Given the description of an element on the screen output the (x, y) to click on. 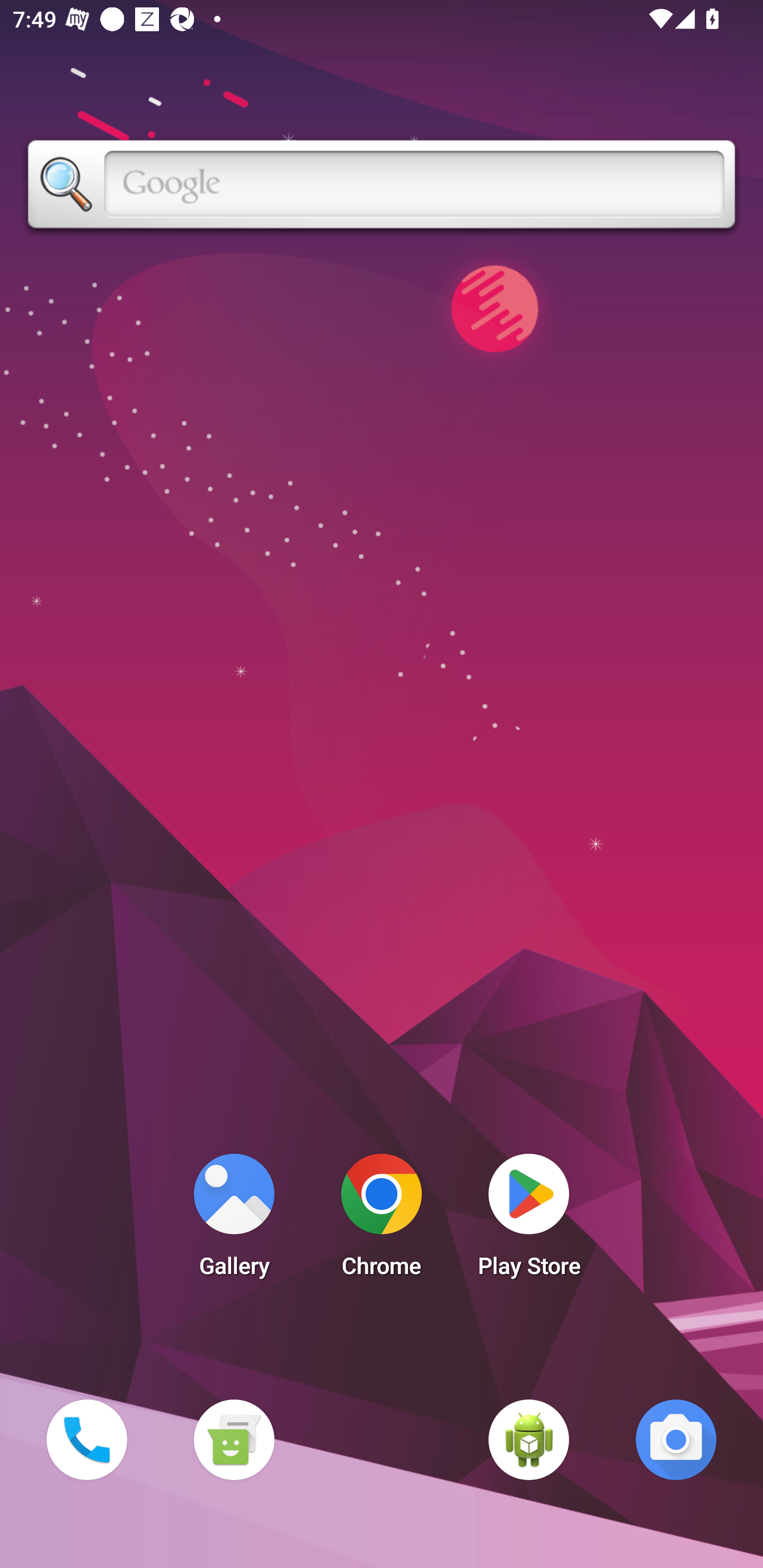
Gallery (233, 1220)
Chrome (381, 1220)
Play Store (528, 1220)
Phone (86, 1439)
Messaging (233, 1439)
WebView Browser Tester (528, 1439)
Camera (676, 1439)
